Given the description of an element on the screen output the (x, y) to click on. 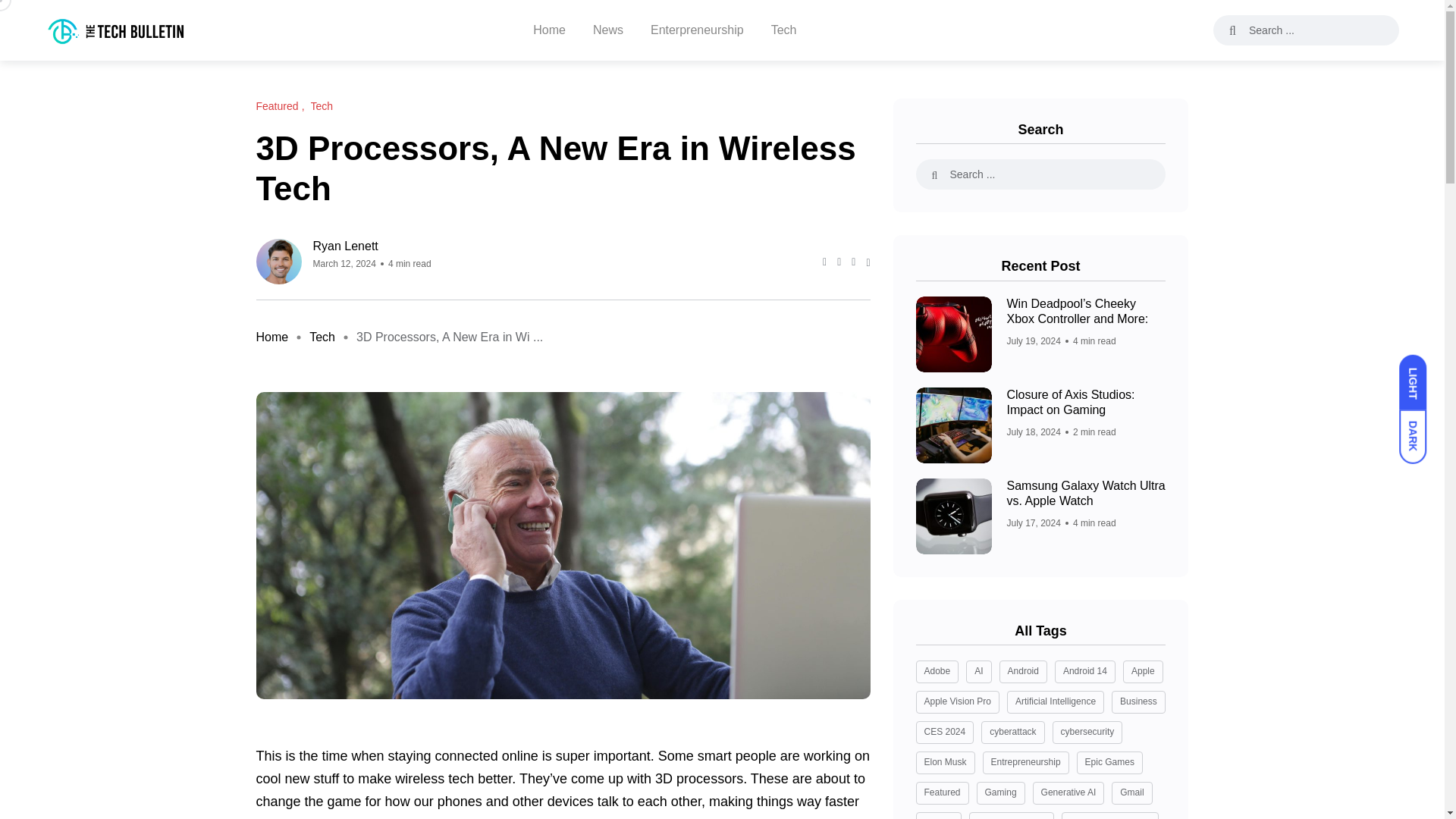
Home (272, 336)
3D Processors, A New Era in Wireless Tech (449, 336)
Closure of Axis Studios: Impact on Gaming (1071, 402)
Featured (277, 105)
The Tech Bulletin (116, 30)
Home (272, 336)
Tech (321, 105)
Tech (321, 336)
Ryan Lenett (371, 246)
Dark Mode (1419, 428)
Light Mode (1420, 375)
Enterpreneurship (697, 30)
